Given the description of an element on the screen output the (x, y) to click on. 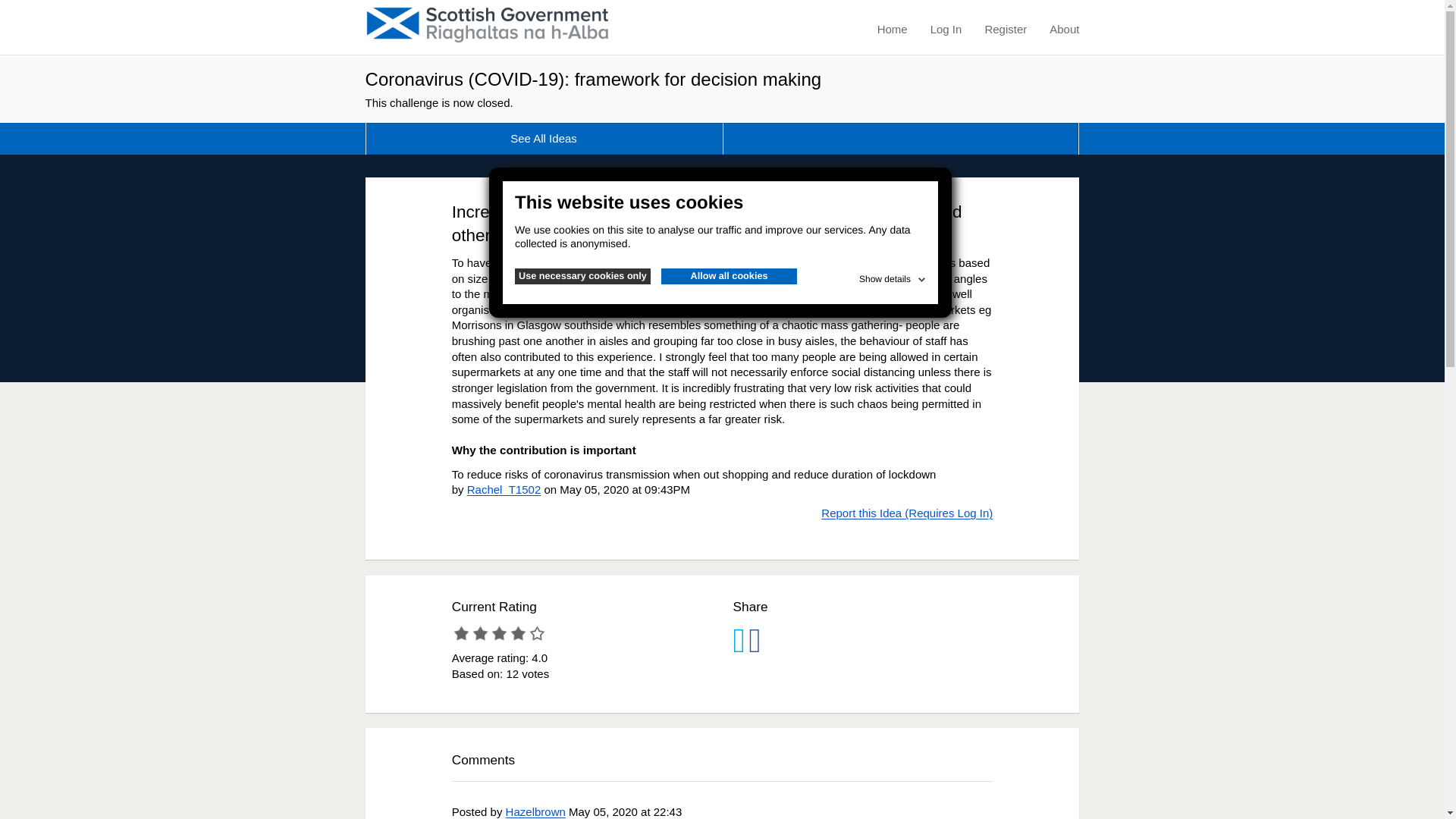
Use necessary cookies only (582, 276)
Home (892, 29)
Allow all cookies (728, 276)
Show details (893, 276)
